Given the description of an element on the screen output the (x, y) to click on. 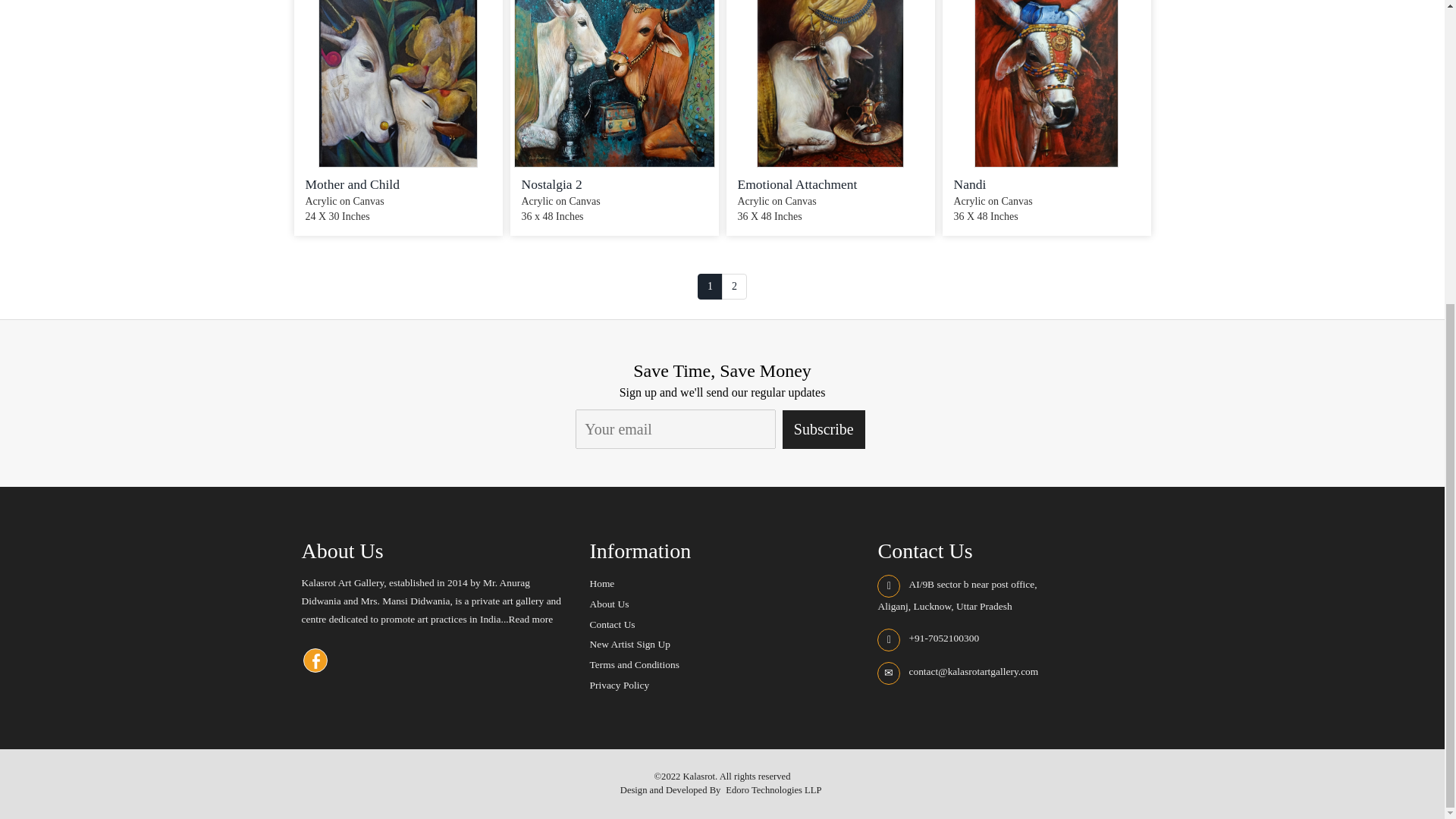
Emotional Attachment (796, 183)
Mother and Child (351, 183)
Nostalgia 2 (551, 183)
Subscribe (823, 429)
